Given the description of an element on the screen output the (x, y) to click on. 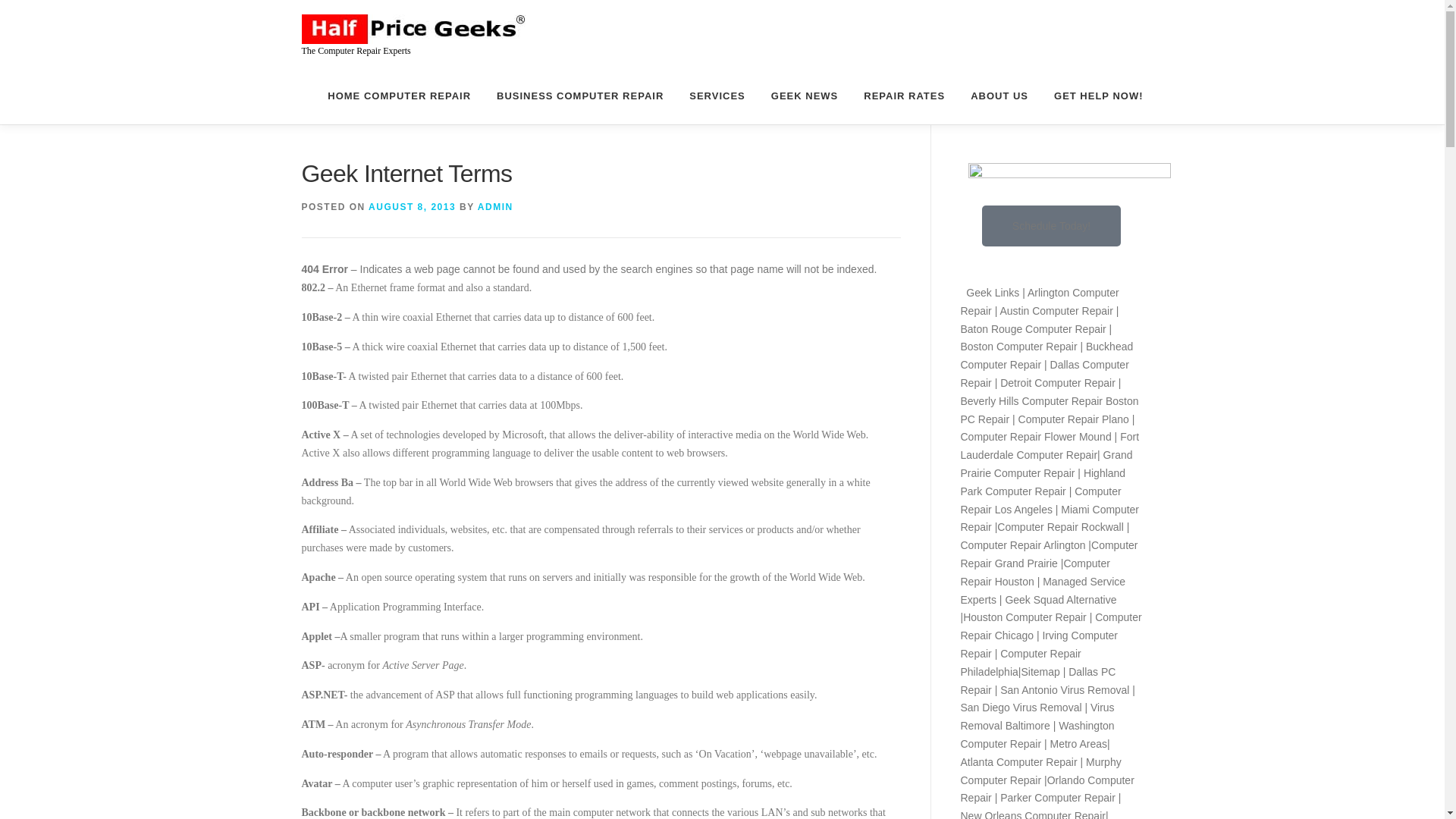
BUSINESS COMPUTER REPAIR (580, 95)
SERVICES (717, 95)
HOME COMPUTER REPAIR (398, 95)
